Given the description of an element on the screen output the (x, y) to click on. 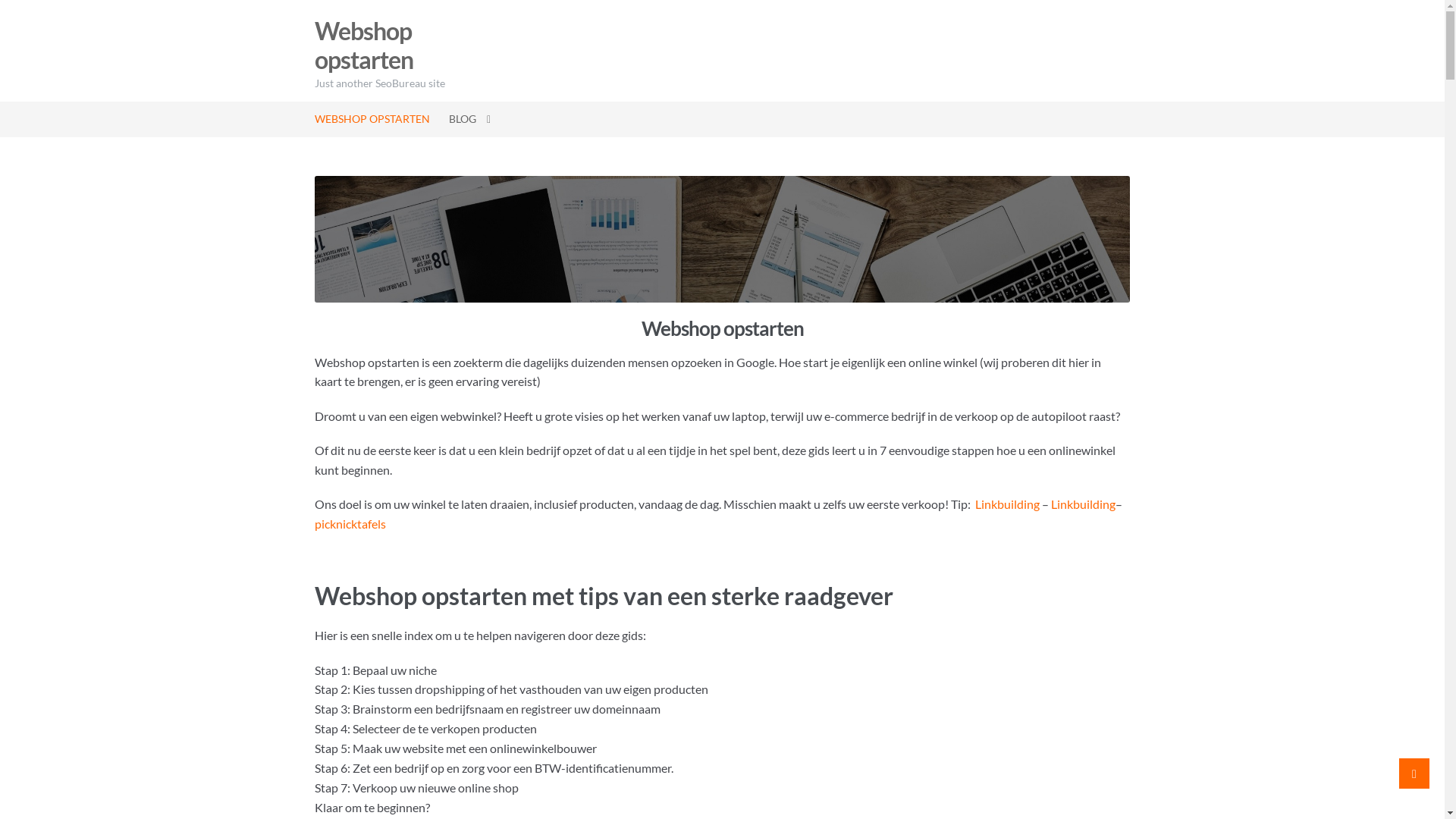
Webshop opstarten Element type: text (363, 45)
Linkbuilding Element type: text (1083, 503)
WEBSHOP OPSTARTEN Element type: text (376, 119)
BLOG Element type: text (469, 119)
picknicktafels Element type: text (349, 523)
Linkbuilding Element type: text (1007, 503)
